Given the description of an element on the screen output the (x, y) to click on. 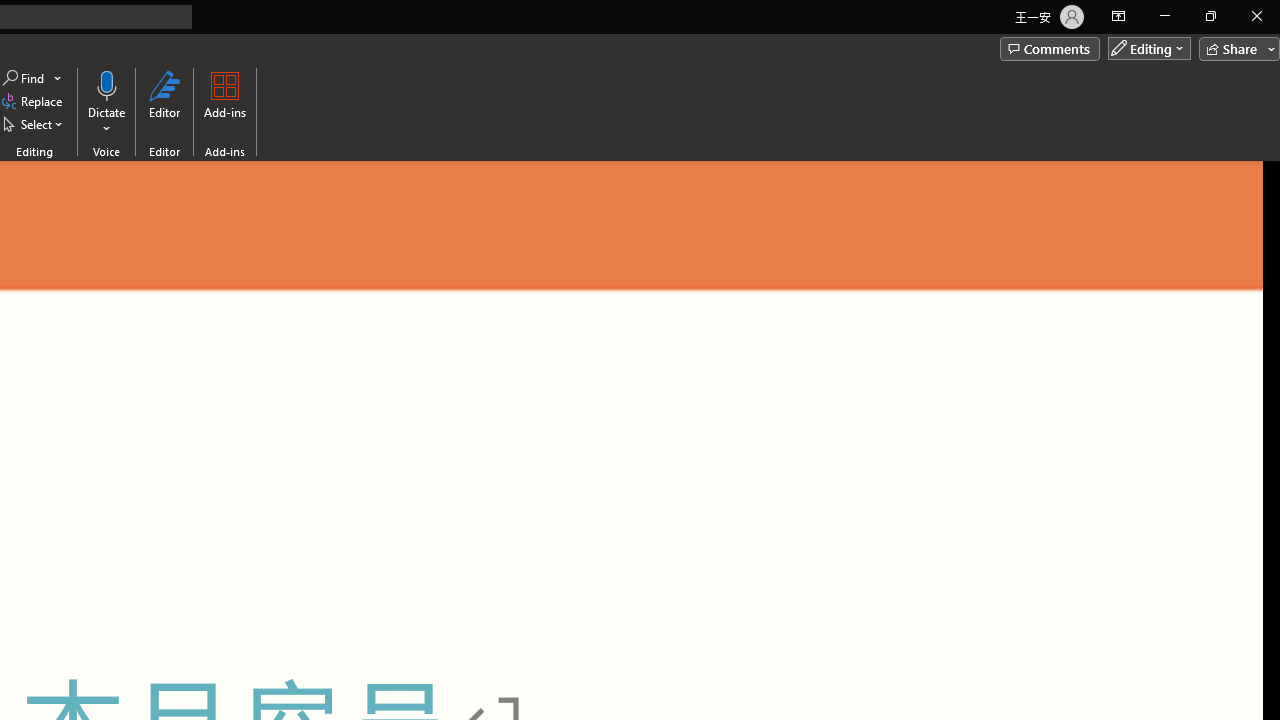
Line up (1271, 169)
